Given the description of an element on the screen output the (x, y) to click on. 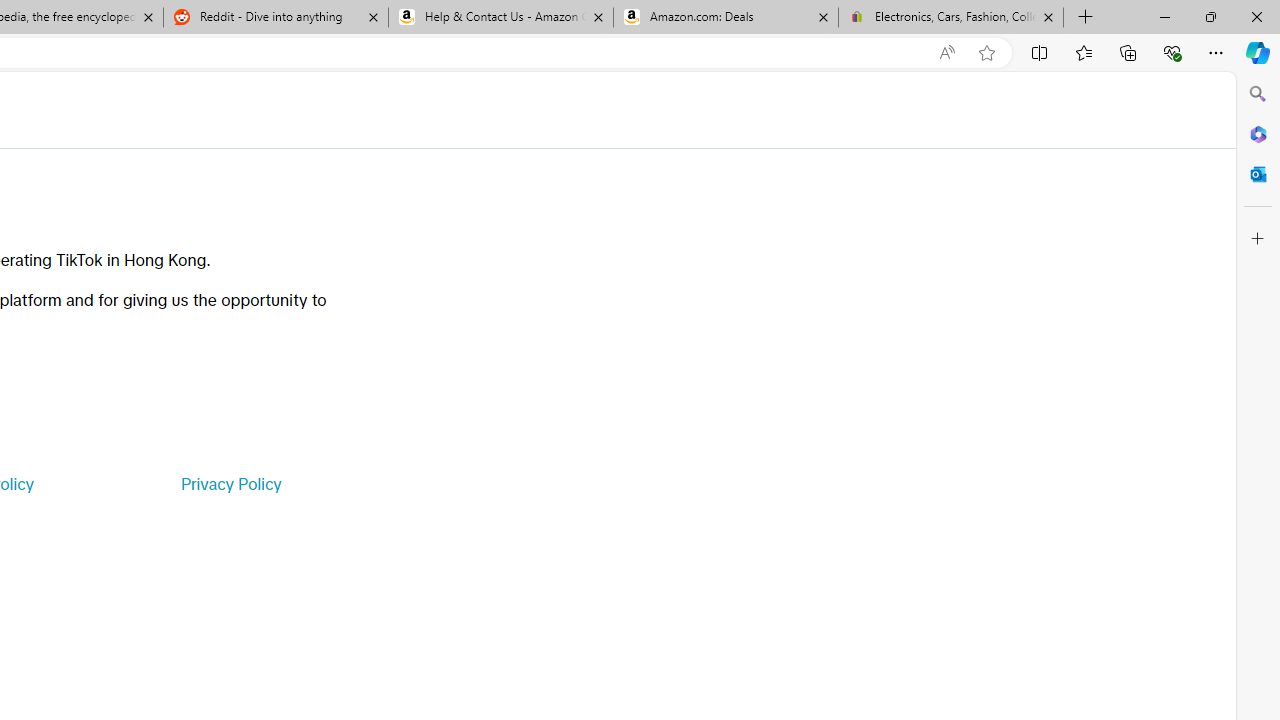
Close Outlook pane (1258, 174)
Amazon.com: Deals (726, 17)
Help & Contact Us - Amazon Customer Service (501, 17)
Reddit - Dive into anything (275, 17)
Privacy Policy (230, 484)
